Given the description of an element on the screen output the (x, y) to click on. 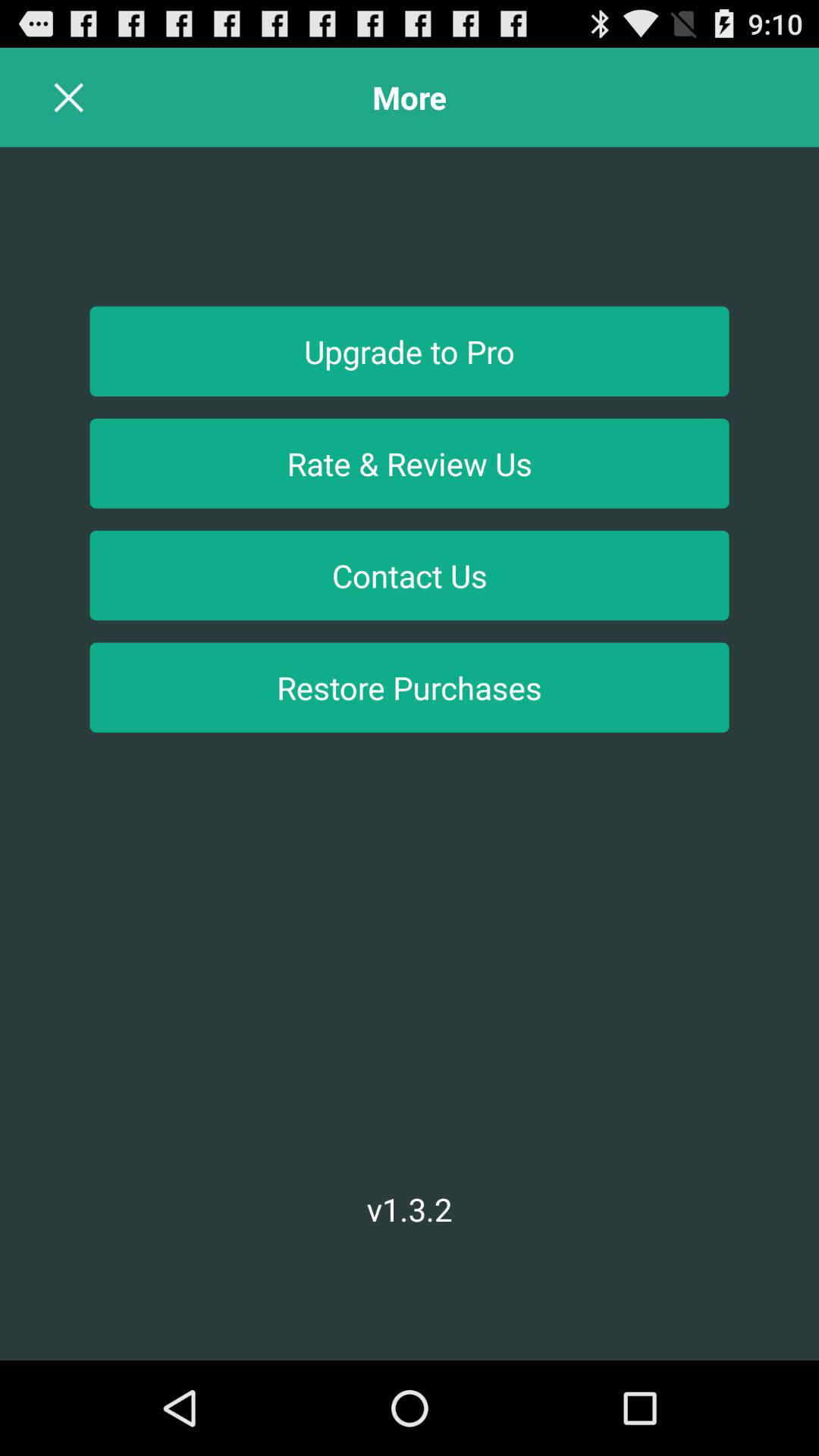
turn on the icon below contact us button (409, 687)
